Given the description of an element on the screen output the (x, y) to click on. 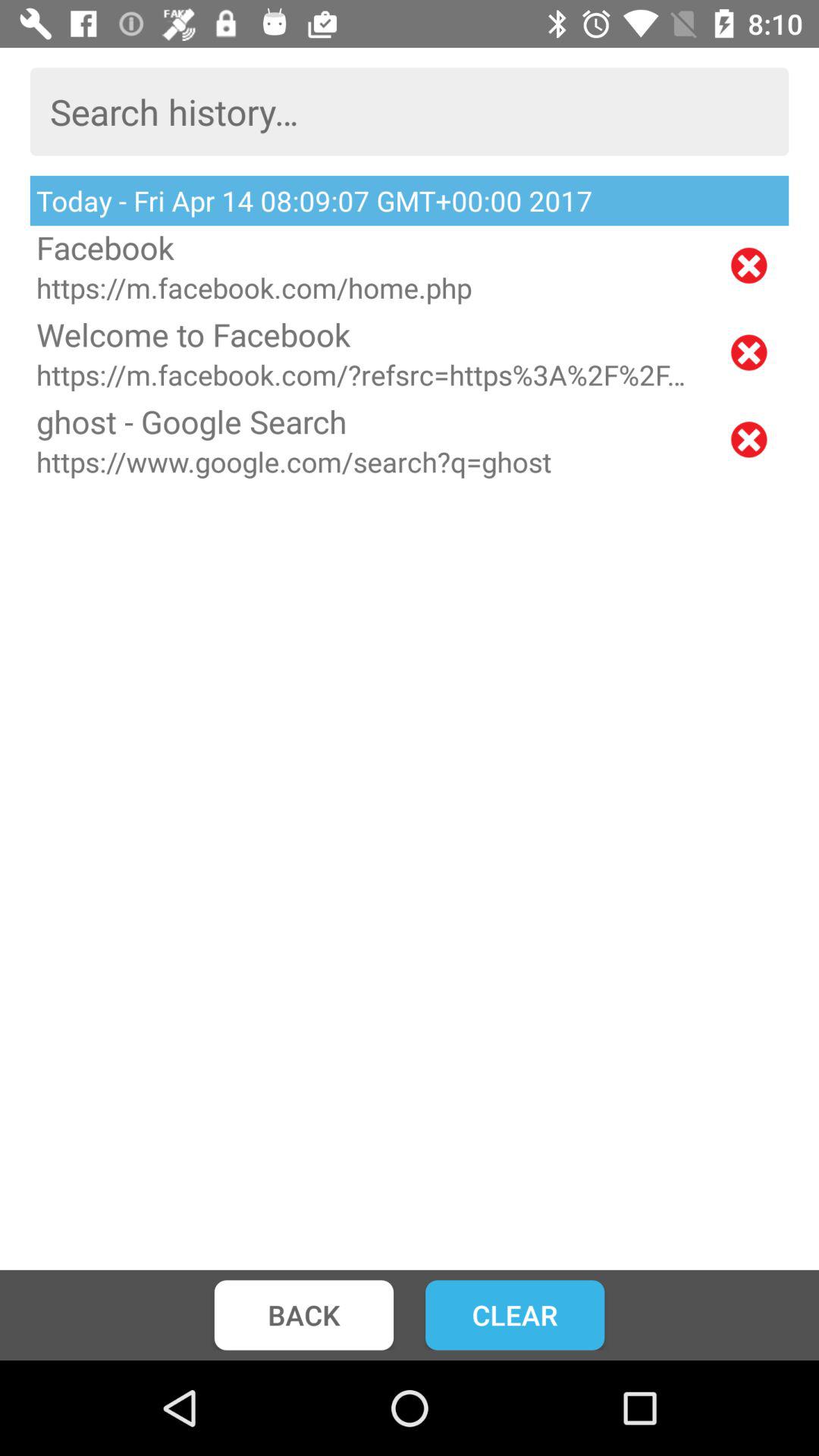
delete a post (748, 439)
